Given the description of an element on the screen output the (x, y) to click on. 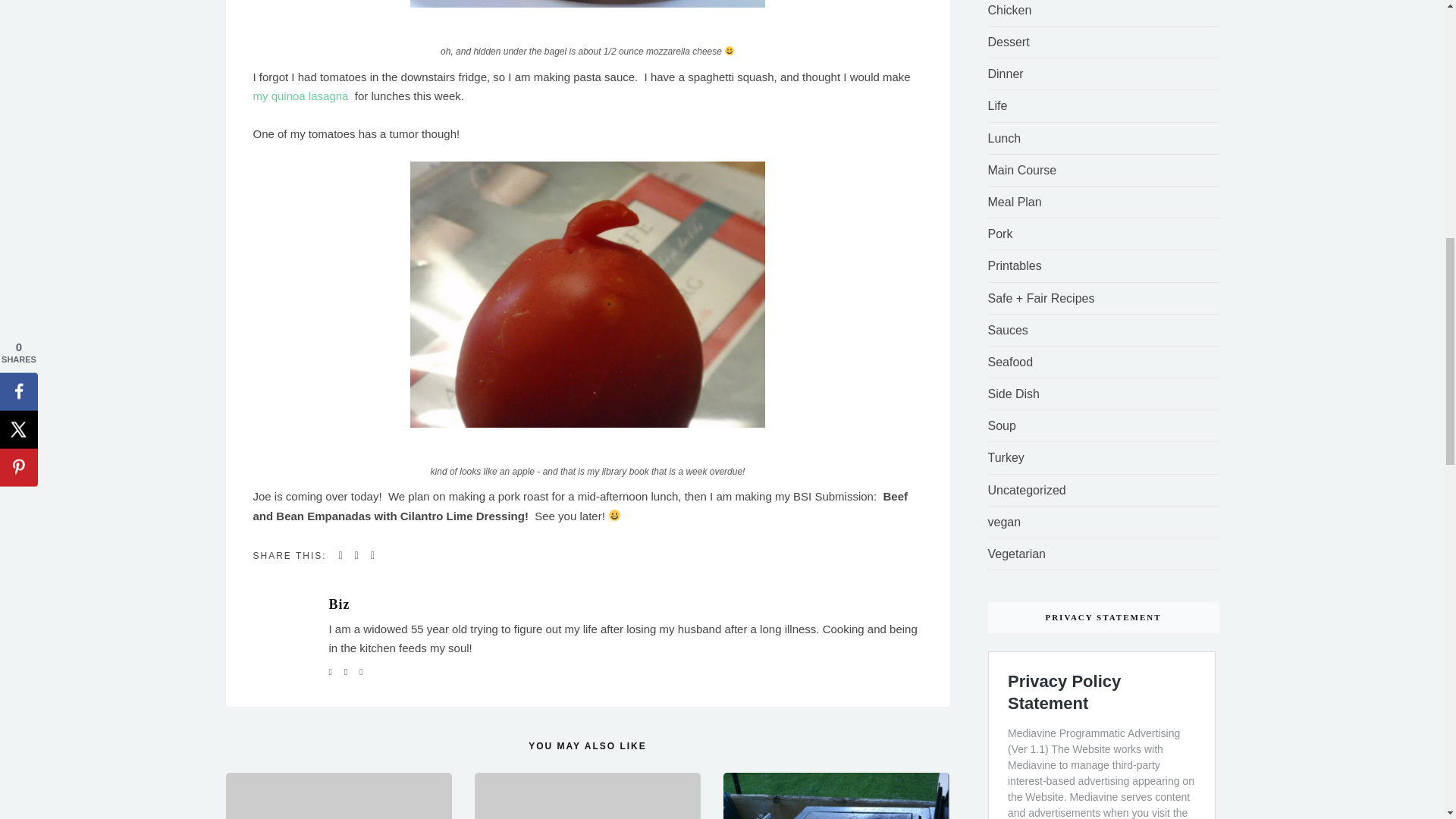
P8090042 (587, 3)
P8090044 (587, 294)
Everything is Big in Texas . . . and spicy Pork Chops!! (836, 796)
